Given the description of an element on the screen output the (x, y) to click on. 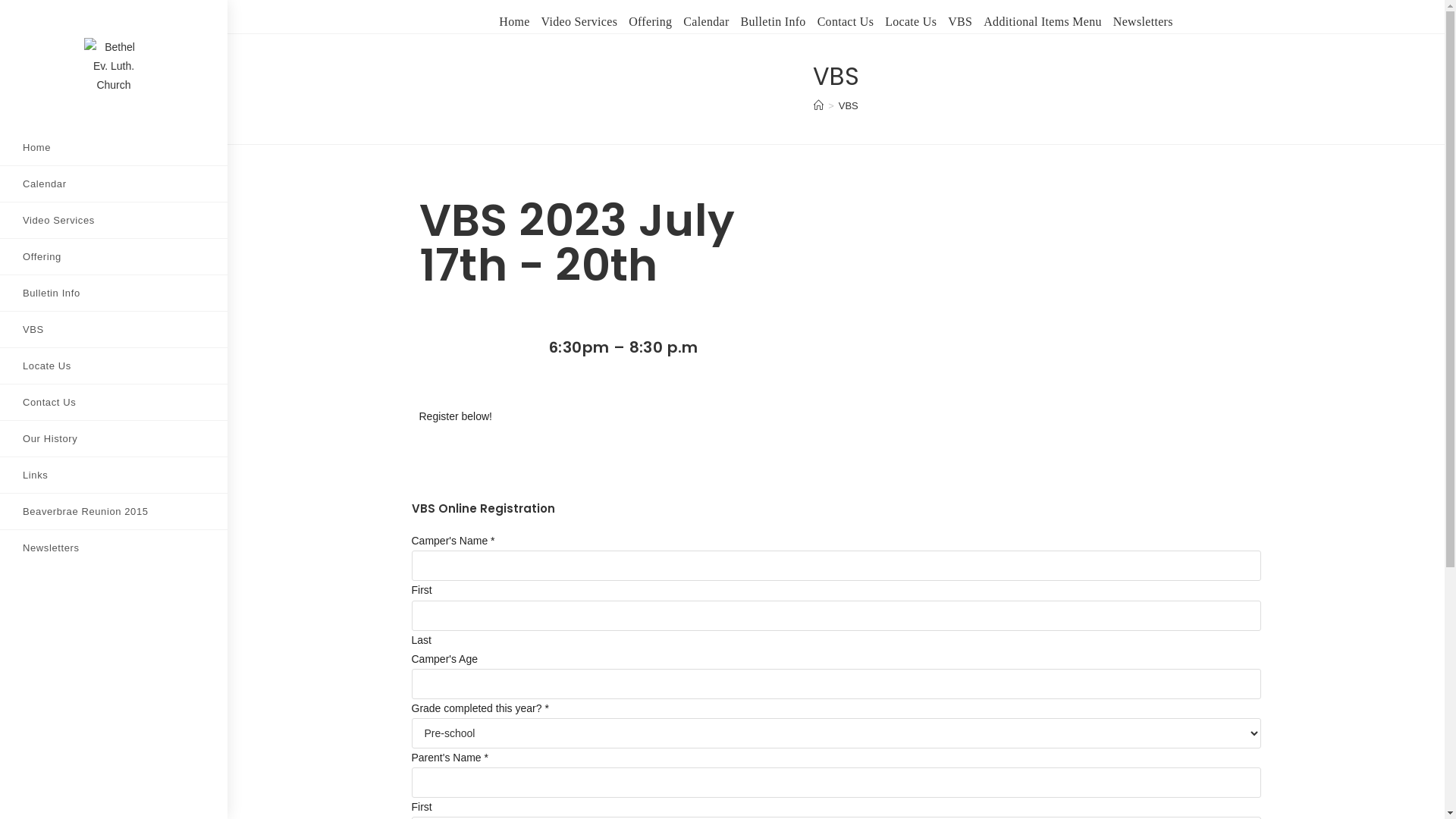
Calendar Element type: text (705, 22)
Offering Element type: text (649, 22)
Contact Us Element type: text (113, 402)
Offering Element type: text (113, 256)
Home Element type: text (513, 22)
Contact Us Element type: text (845, 22)
Beaverbrae Reunion 2015 Element type: text (113, 511)
Additional Items Menu Element type: text (1042, 22)
VBS Element type: text (848, 105)
Video Services Element type: text (579, 22)
Locate Us Element type: text (910, 22)
VBS Element type: text (113, 329)
Calendar Element type: text (113, 183)
Our History Element type: text (113, 438)
Home Element type: text (113, 147)
Newsletters Element type: text (1143, 22)
Bulletin Info Element type: text (773, 22)
Bulletin Info Element type: text (113, 292)
VBS Element type: text (959, 22)
Links Element type: text (113, 474)
Video Services Element type: text (113, 220)
Newsletters Element type: text (113, 547)
Locate Us Element type: text (113, 365)
